Given the description of an element on the screen output the (x, y) to click on. 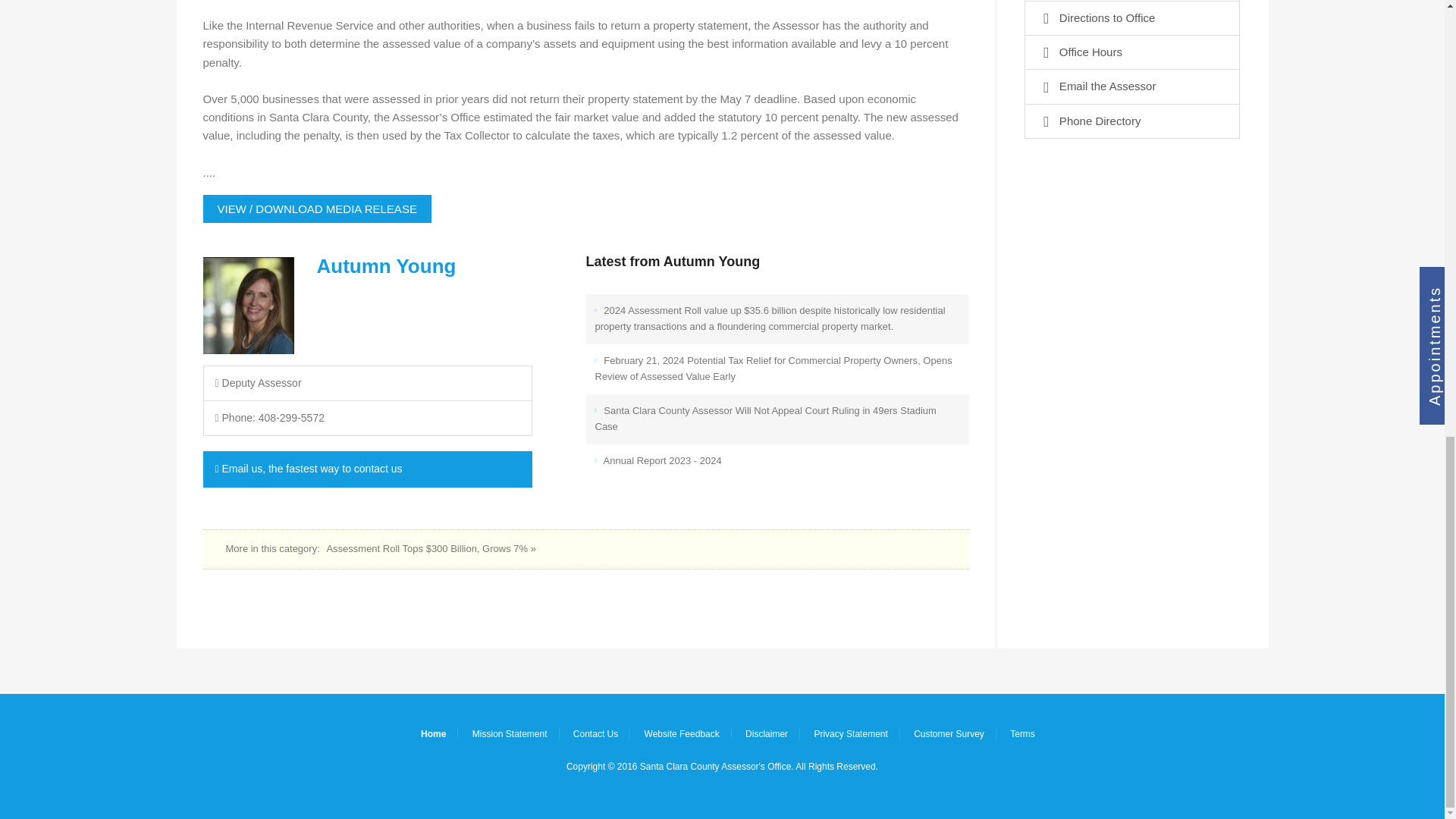
Email to Assessor's Office (367, 468)
